Given the description of an element on the screen output the (x, y) to click on. 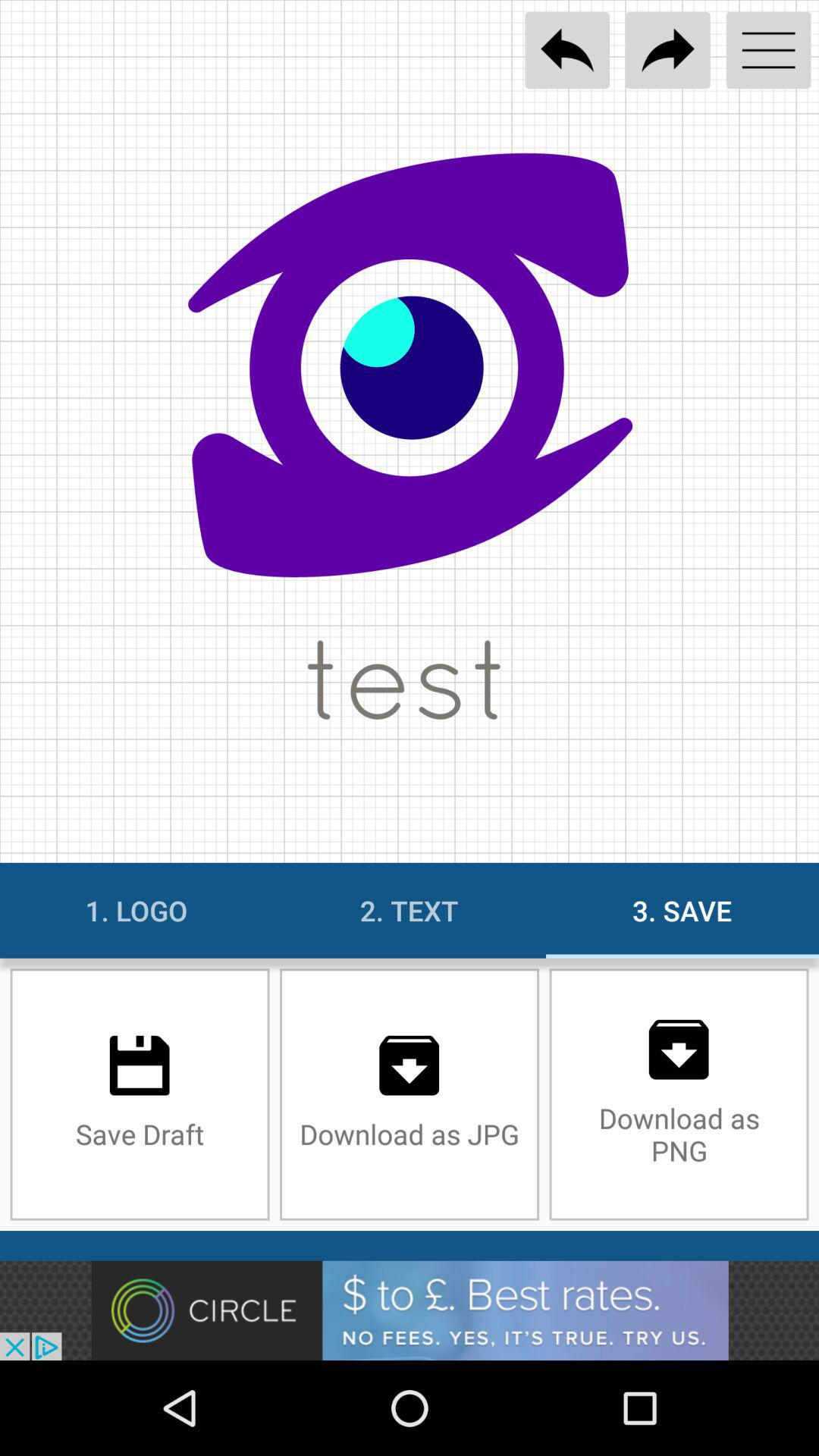
settings (768, 50)
